Given the description of an element on the screen output the (x, y) to click on. 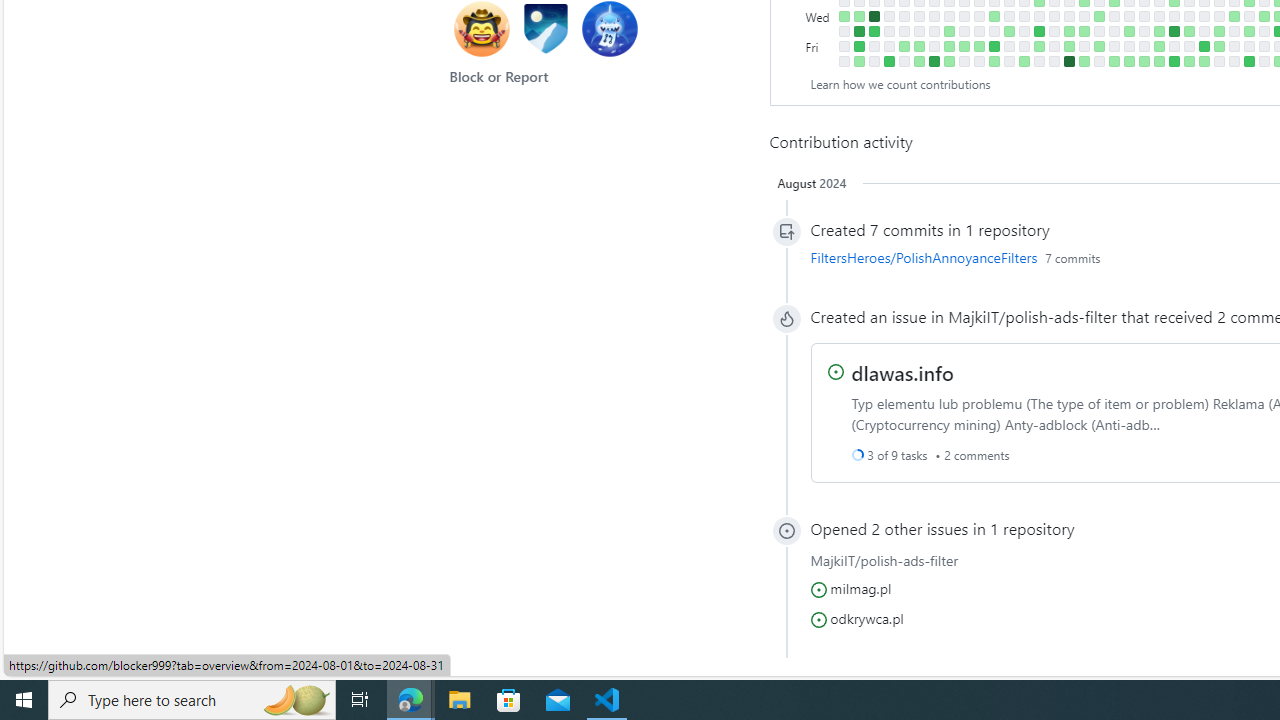
2 contributions on March 21st. (1009, 30)
No contributions on January 31st. (904, 16)
2 contributions on May 30th. (1158, 30)
1 contribution on April 25th. (1083, 30)
No contributions on April 13th. (1053, 61)
No contributions on June 29th. (1218, 61)
3 contributions on July 17th. (1263, 16)
No contributions on June 26th. (1218, 16)
No contributions on April 24th. (1083, 16)
No contributions on July 10th. (1248, 16)
1 contribution on May 31st. (1158, 46)
3 contributions on March 13th. (993, 16)
No contributions on June 20th. (1203, 30)
No contributions on January 26th. (888, 46)
Friday (819, 46)
